Given the description of an element on the screen output the (x, y) to click on. 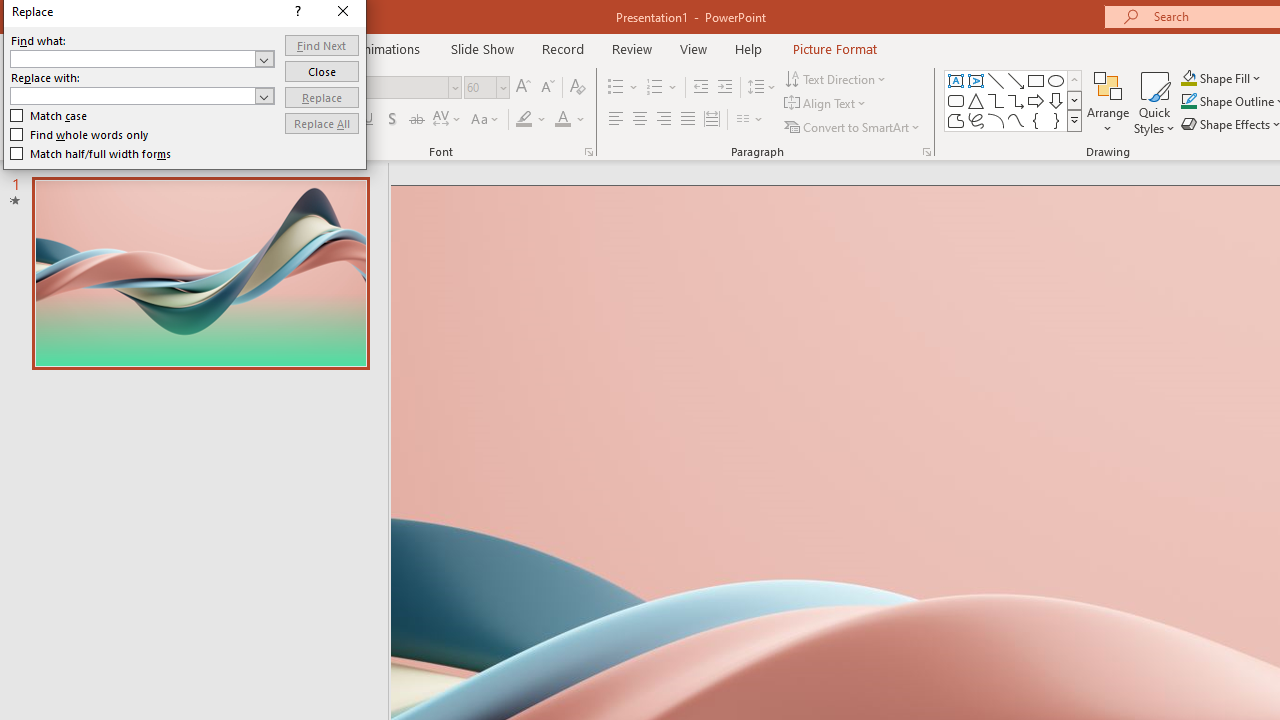
Columns (750, 119)
Connector: Elbow Arrow (1016, 100)
Justify (687, 119)
Shape Outline Blue, Accent 1 (1188, 101)
Decrease Font Size (547, 87)
Clear Formatting (577, 87)
Vertical Text Box (975, 80)
Format Painter (103, 126)
Arrange (1108, 102)
